Given the description of an element on the screen output the (x, y) to click on. 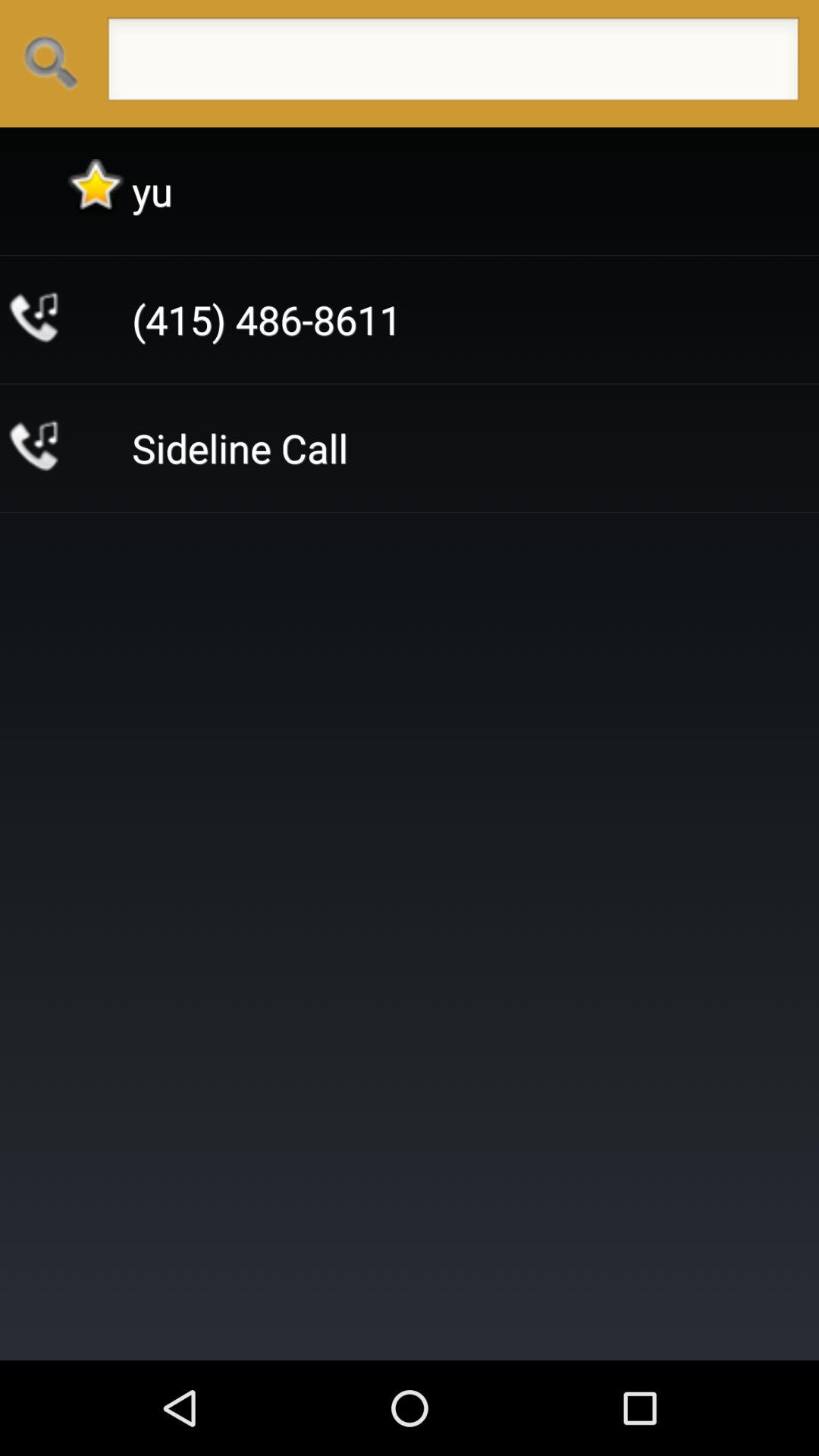
click item above the (415) 486-8611 (151, 190)
